Given the description of an element on the screen output the (x, y) to click on. 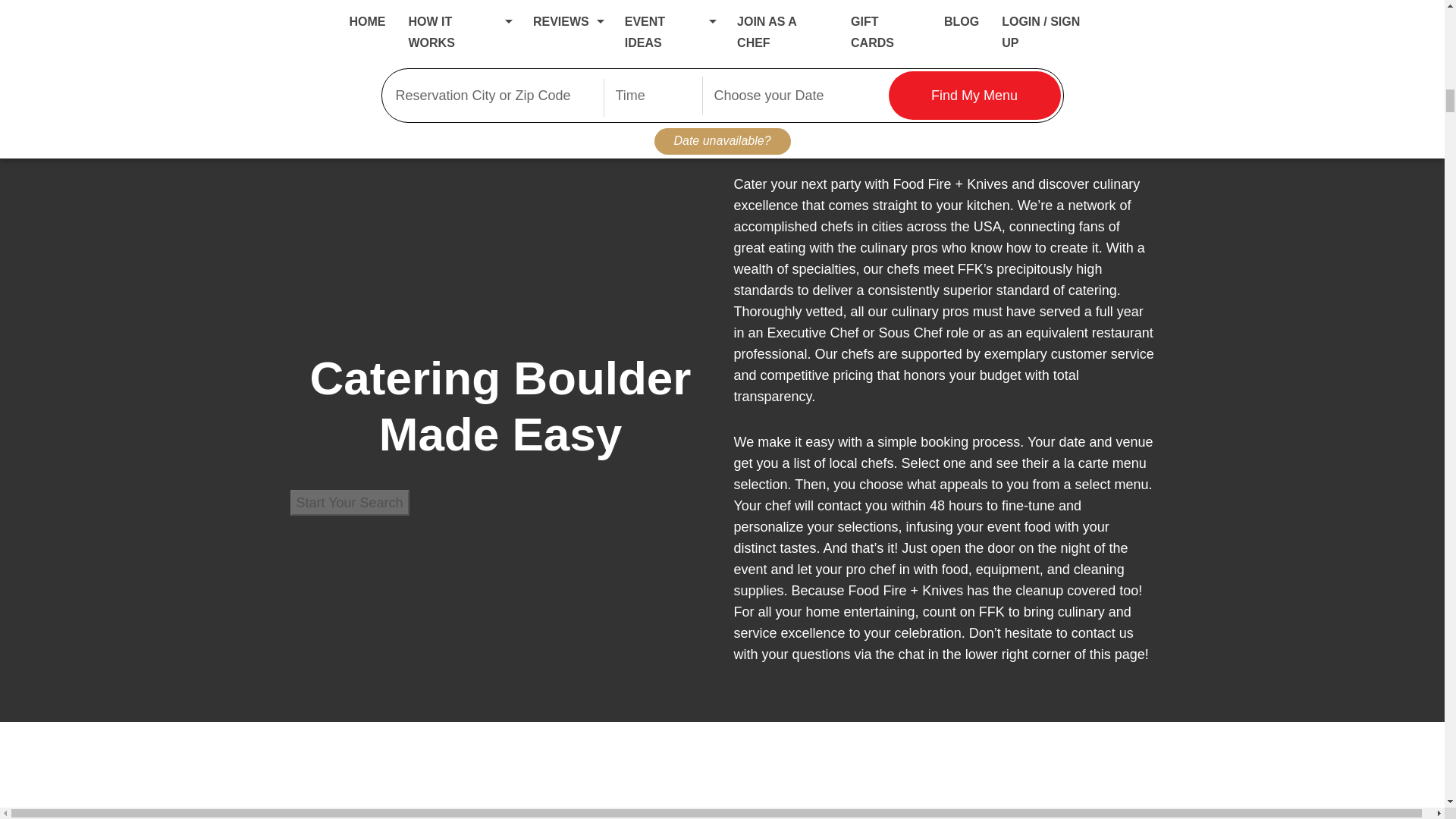
asheville-nc-collage (506, 23)
